Given the description of an element on the screen output the (x, y) to click on. 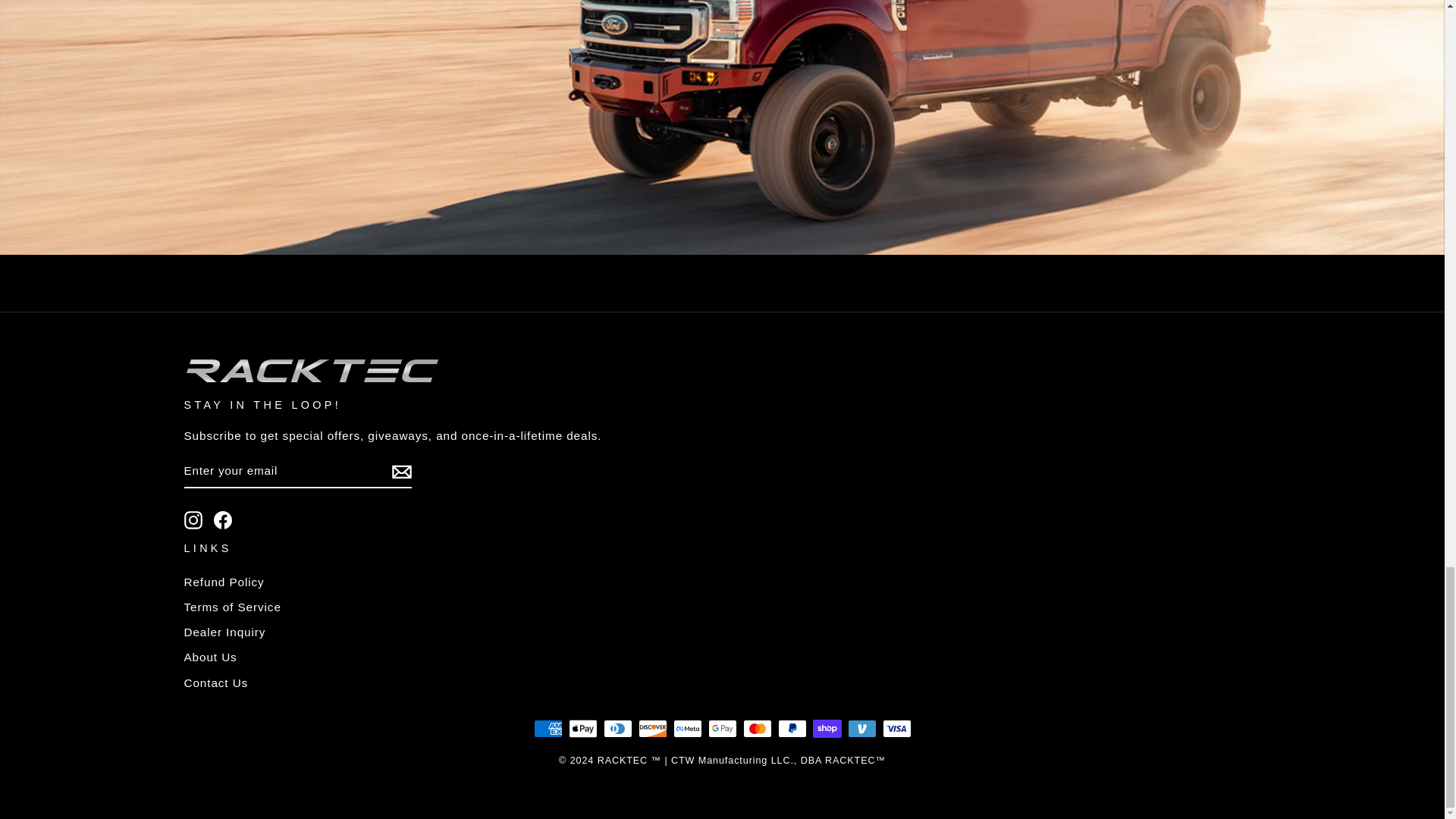
Meta Pay (686, 728)
American Express (548, 728)
Diners Club (617, 728)
Apple Pay (582, 728)
RACKTEC on Instagram (192, 520)
RACKTEC on Facebook (222, 520)
Discover (652, 728)
